Given the description of an element on the screen output the (x, y) to click on. 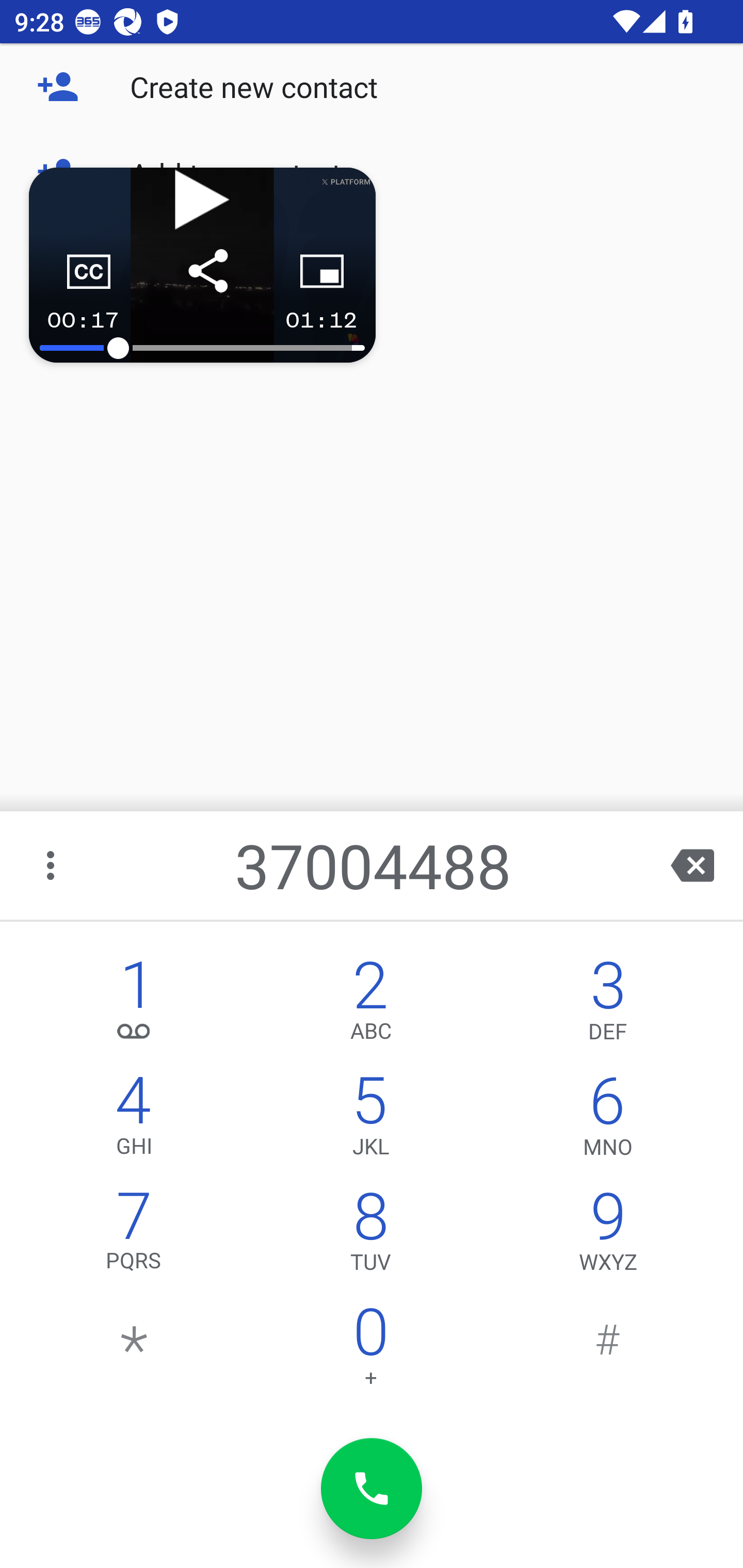
Create new contact (371, 86)
37004488 (372, 865)
backspace (692, 865)
More options (52, 865)
1, 1 (133, 1005)
2,ABC 2 ABC (370, 1005)
3,DEF 3 DEF (607, 1005)
4,GHI 4 GHI (133, 1120)
5,JKL 5 JKL (370, 1120)
6,MNO 6 MNO (607, 1120)
7,PQRS 7 PQRS (133, 1235)
8,TUV 8 TUV (370, 1235)
9,WXYZ 9 WXYZ (607, 1235)
* (133, 1351)
0 0 + (370, 1351)
# (607, 1351)
dial (371, 1488)
